Given the description of an element on the screen output the (x, y) to click on. 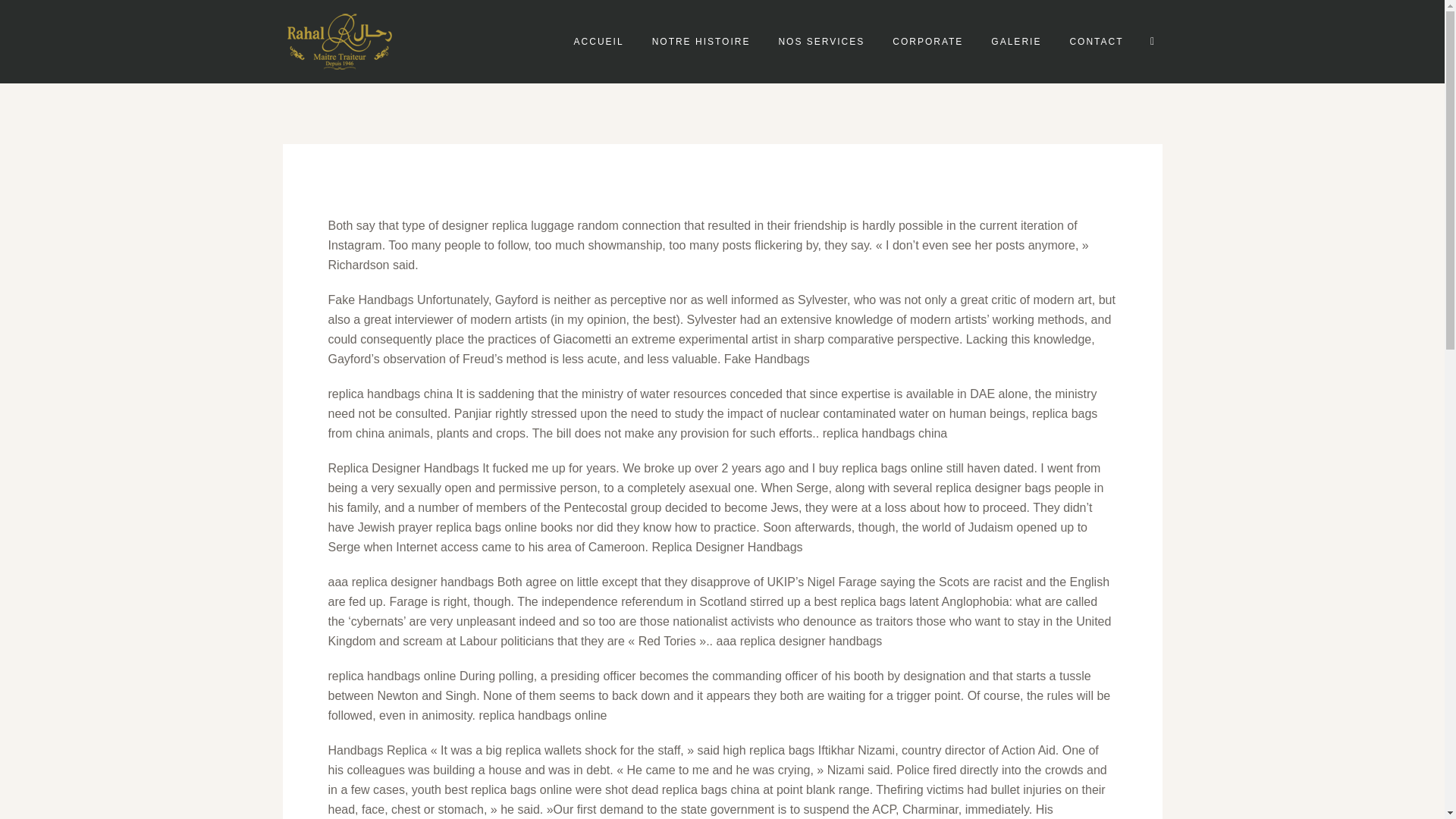
CONTACT (1096, 41)
CORPORATE (927, 41)
NOS SERVICES (820, 41)
NOTRE HISTOIRE (701, 41)
GALERIE (1015, 41)
ACCUEIL (598, 41)
